Given the description of an element on the screen output the (x, y) to click on. 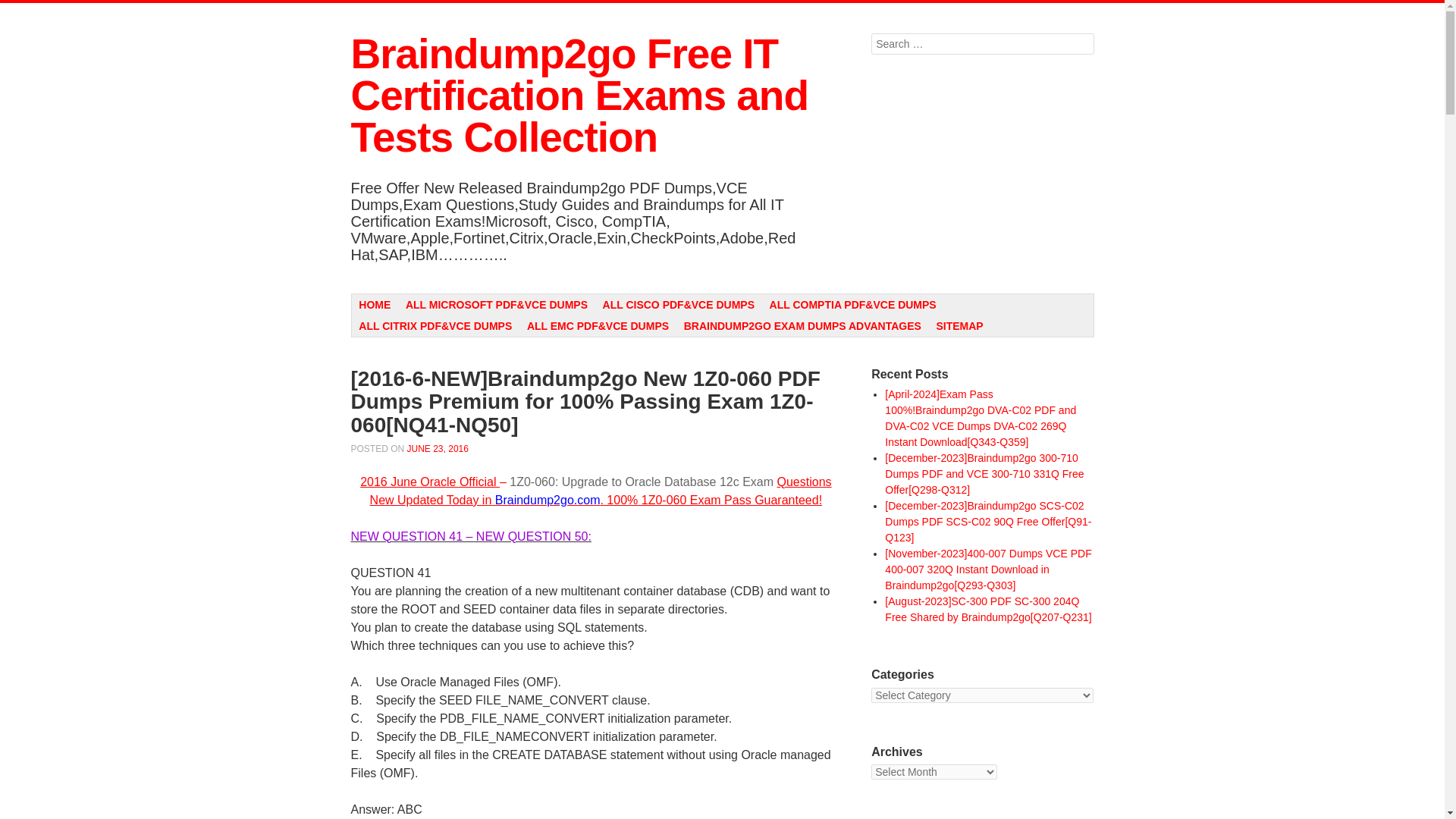
BRAINDUMP2GO EXAM DUMPS ADVANTAGES (802, 325)
7:10 am (437, 448)
HOME (375, 304)
JUNE 23, 2016 (437, 448)
SKIP TO CONTENT (405, 302)
SITEMAP (959, 325)
Search (22, 9)
